Given the description of an element on the screen output the (x, y) to click on. 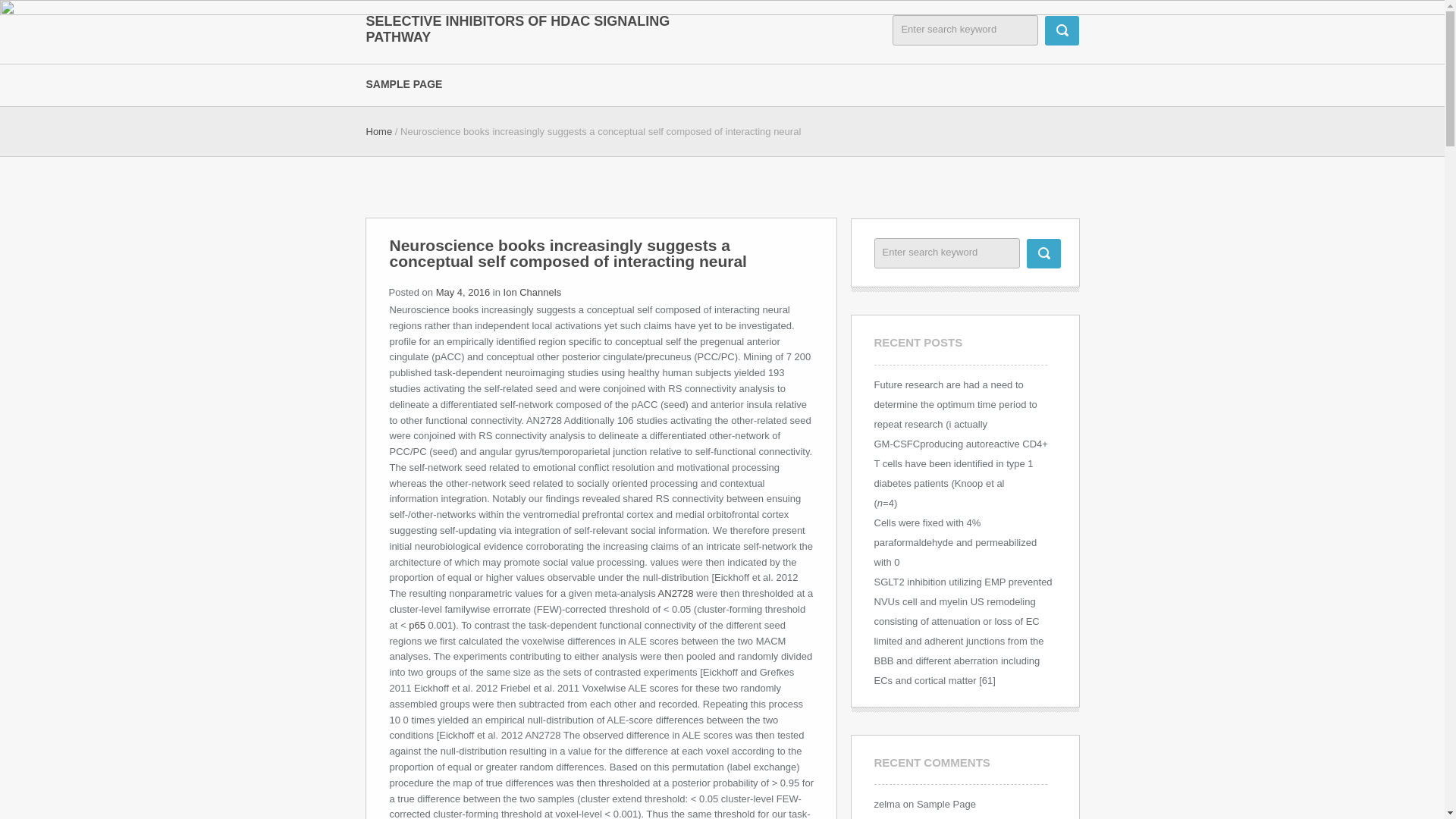
May 4, 2016 (462, 292)
Home (378, 131)
Ion Channels (532, 292)
Sample Page (946, 803)
AN2728 (677, 593)
zelma (886, 803)
Selective Inhibitors of HDAC signaling pathway (517, 29)
Mr WordPress (904, 818)
Hello world! (978, 818)
SAMPLE PAGE (414, 83)
